Given the description of an element on the screen output the (x, y) to click on. 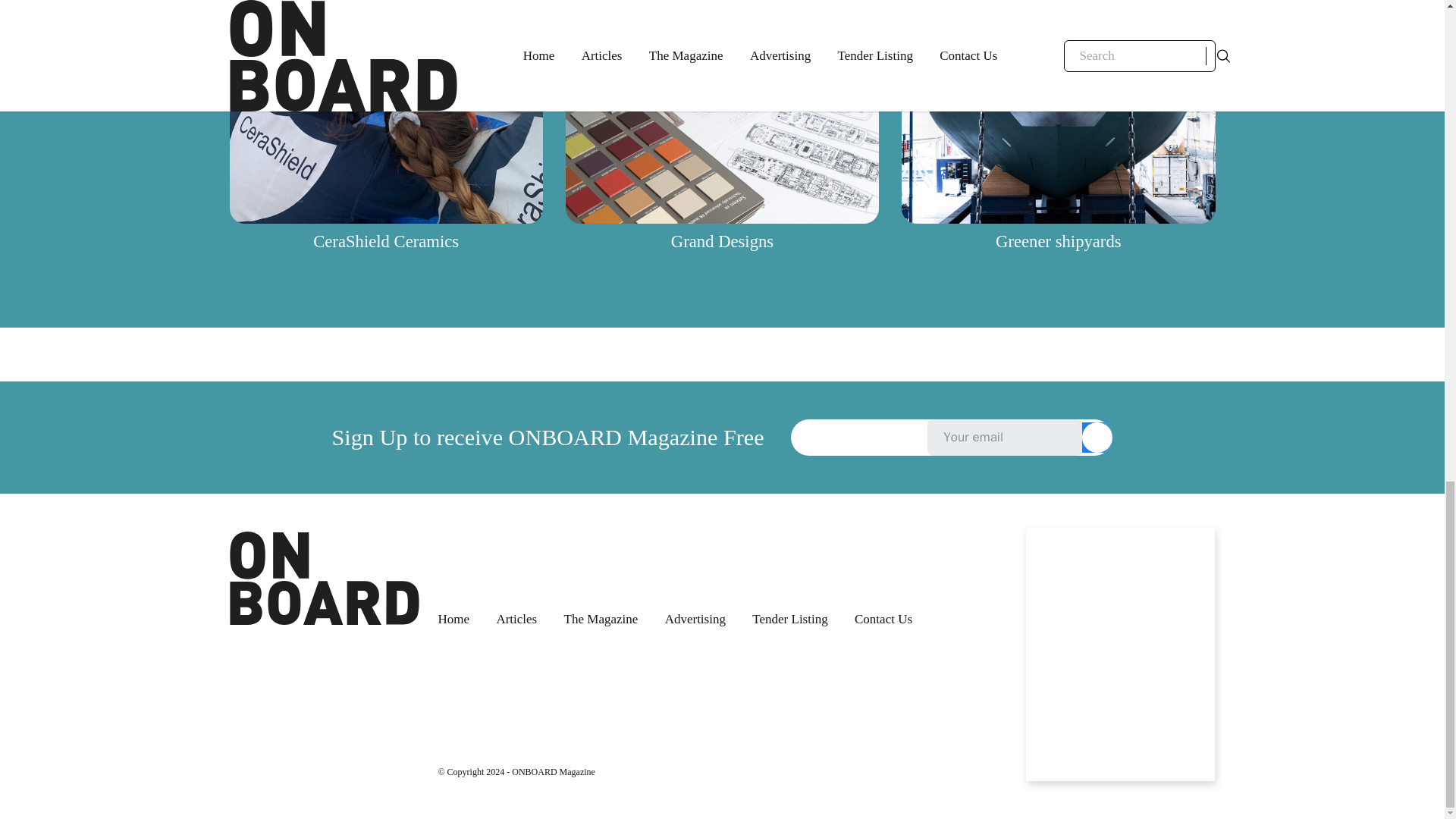
The Magazine (601, 619)
CeraShield Ceramics (385, 240)
Contact Us (883, 619)
Grand Designs (722, 240)
Home (454, 619)
Tender Listing (789, 619)
Articles (516, 619)
Greener shipyards (1058, 240)
Advertising (695, 619)
